Given the description of an element on the screen output the (x, y) to click on. 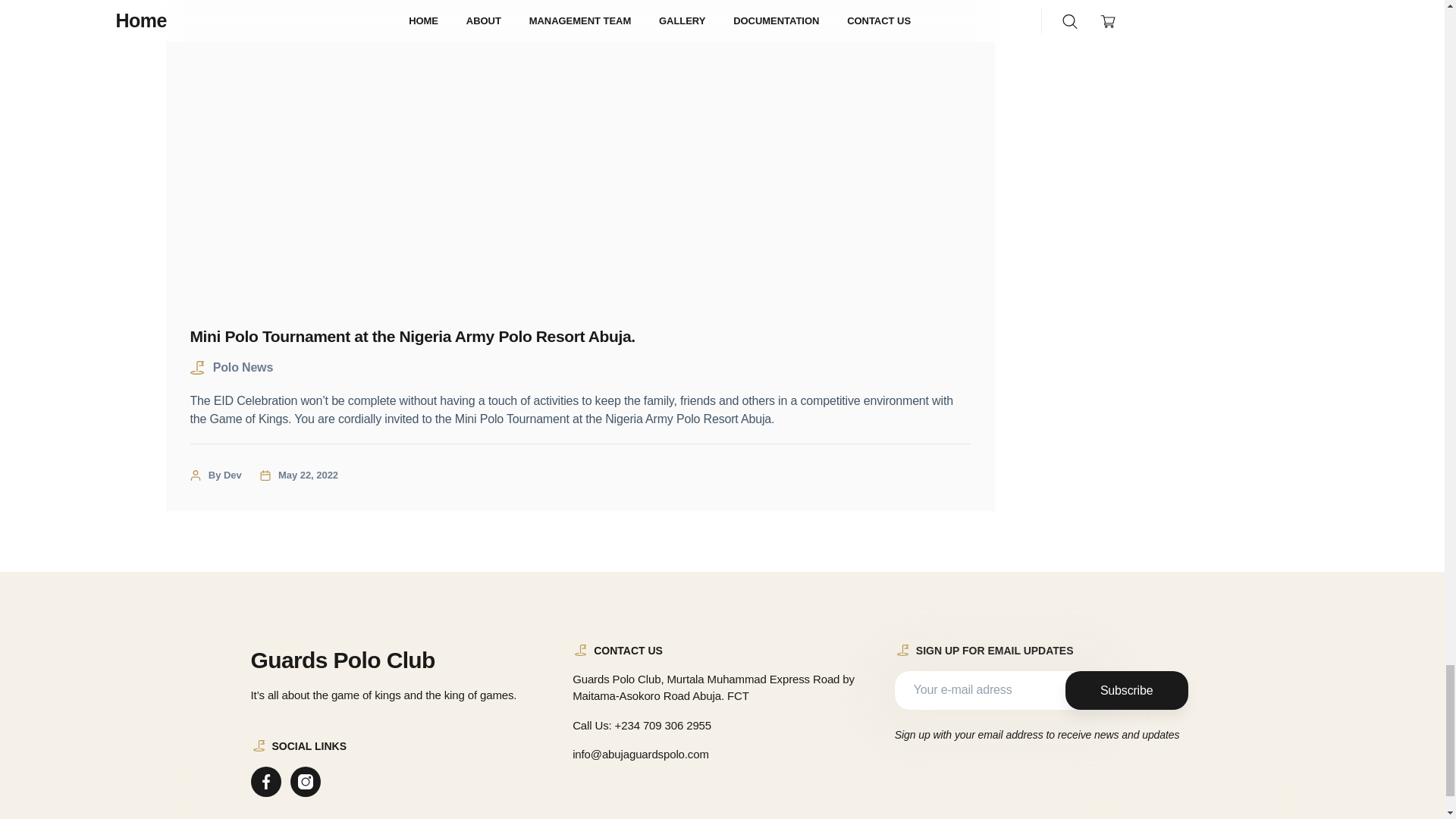
Subscribe (1126, 690)
Mini Polo Tournament at the Nigeria Army Polo Resort Abuja. (579, 336)
Polo News (242, 367)
By Dev (224, 474)
